Given the description of an element on the screen output the (x, y) to click on. 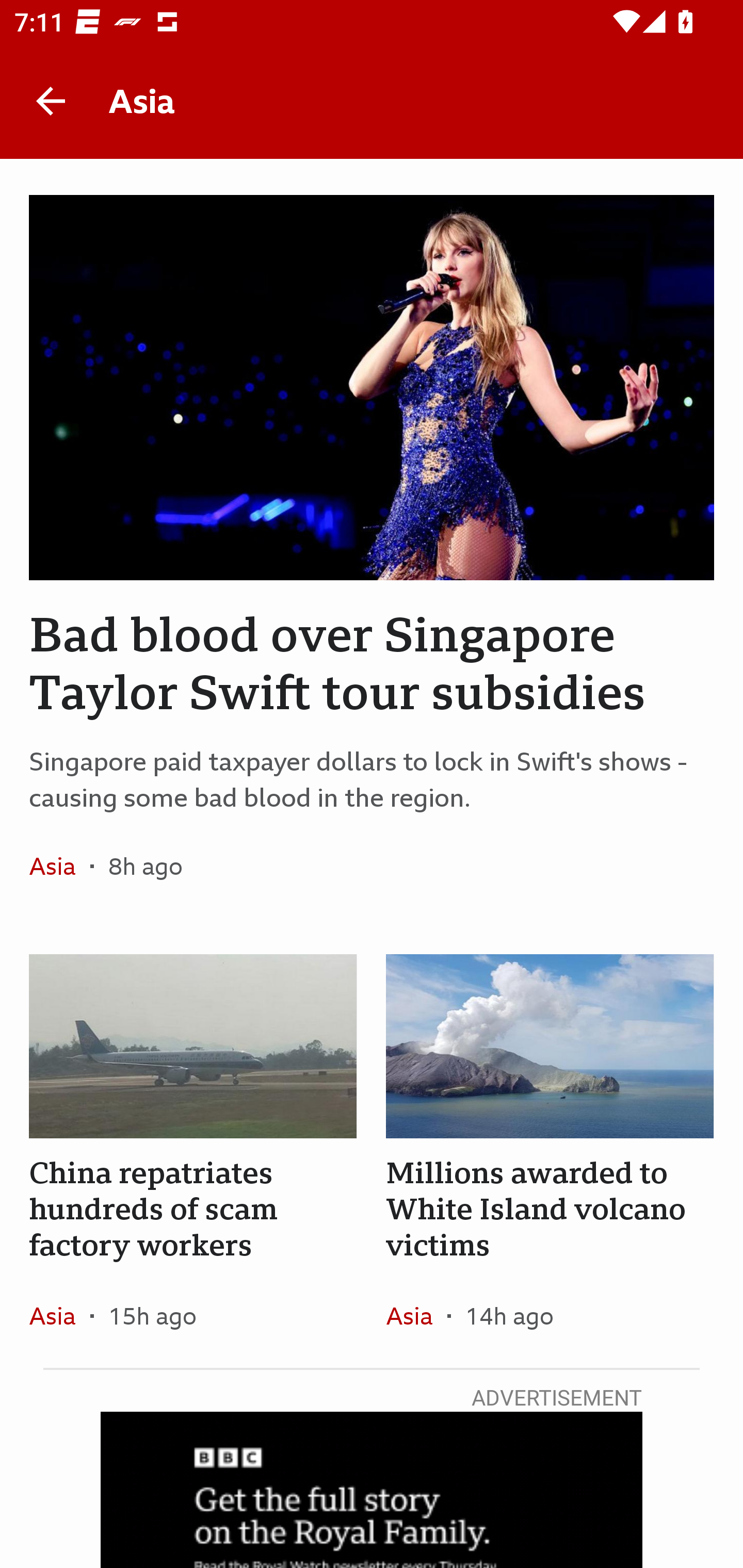
Back (50, 101)
Asia In the section Asia (59, 865)
Asia In the section Asia (59, 1315)
Asia In the section Asia (416, 1315)
